Given the description of an element on the screen output the (x, y) to click on. 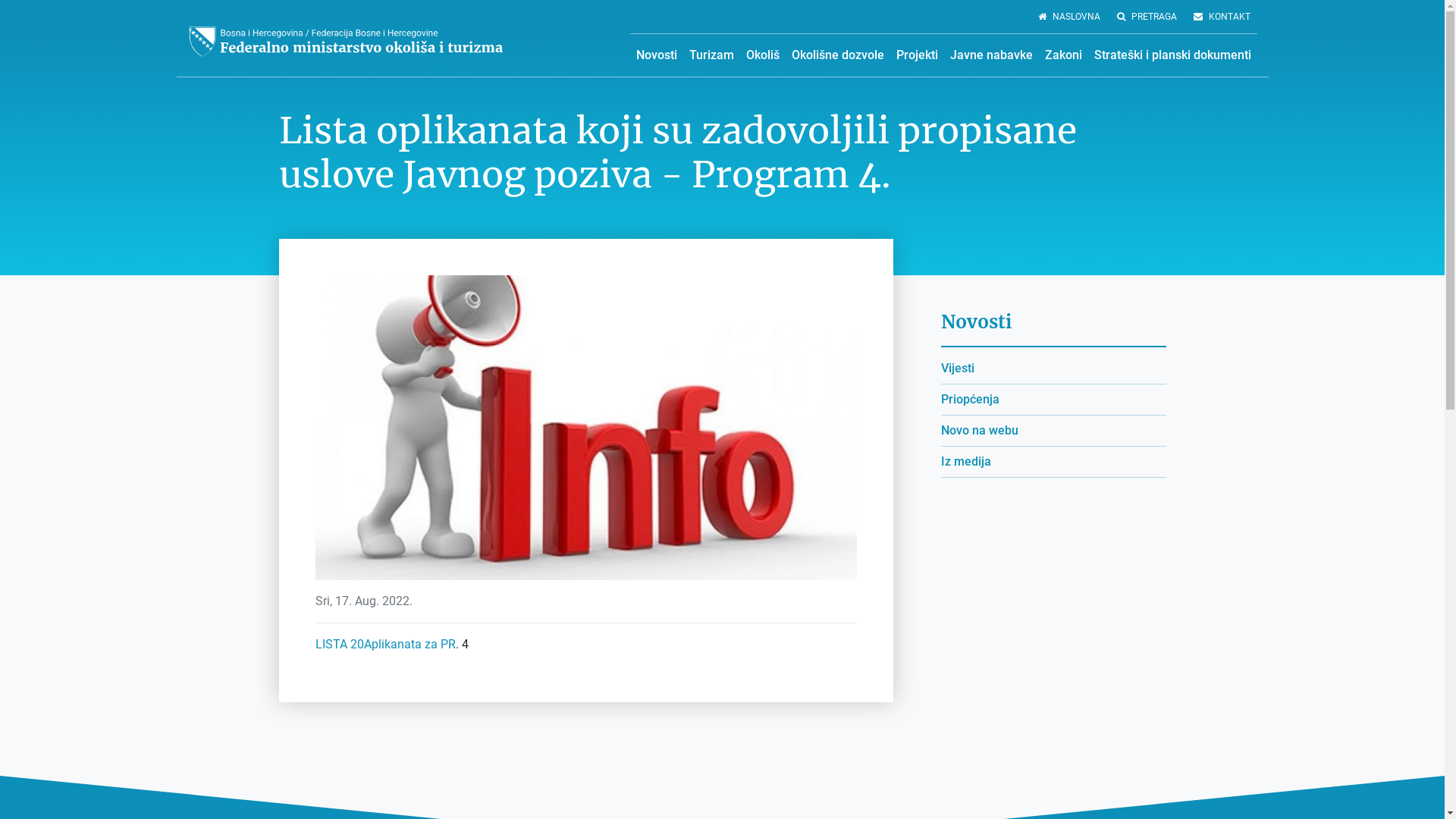
KONTAKT Element type: text (1221, 16)
Projekti Element type: text (917, 55)
Javne nabavke Element type: text (990, 55)
NASLOVNA Element type: text (1069, 16)
Iz medija Element type: text (965, 461)
LISTA 20Aplikanata za PR Element type: text (385, 644)
Novo na webu Element type: text (978, 430)
Zakoni Element type: text (1063, 55)
PRETRAGA Element type: text (1146, 16)
Vijesti Element type: text (956, 367)
Turizam Element type: text (710, 55)
Novosti Element type: text (655, 55)
